Given the description of an element on the screen output the (x, y) to click on. 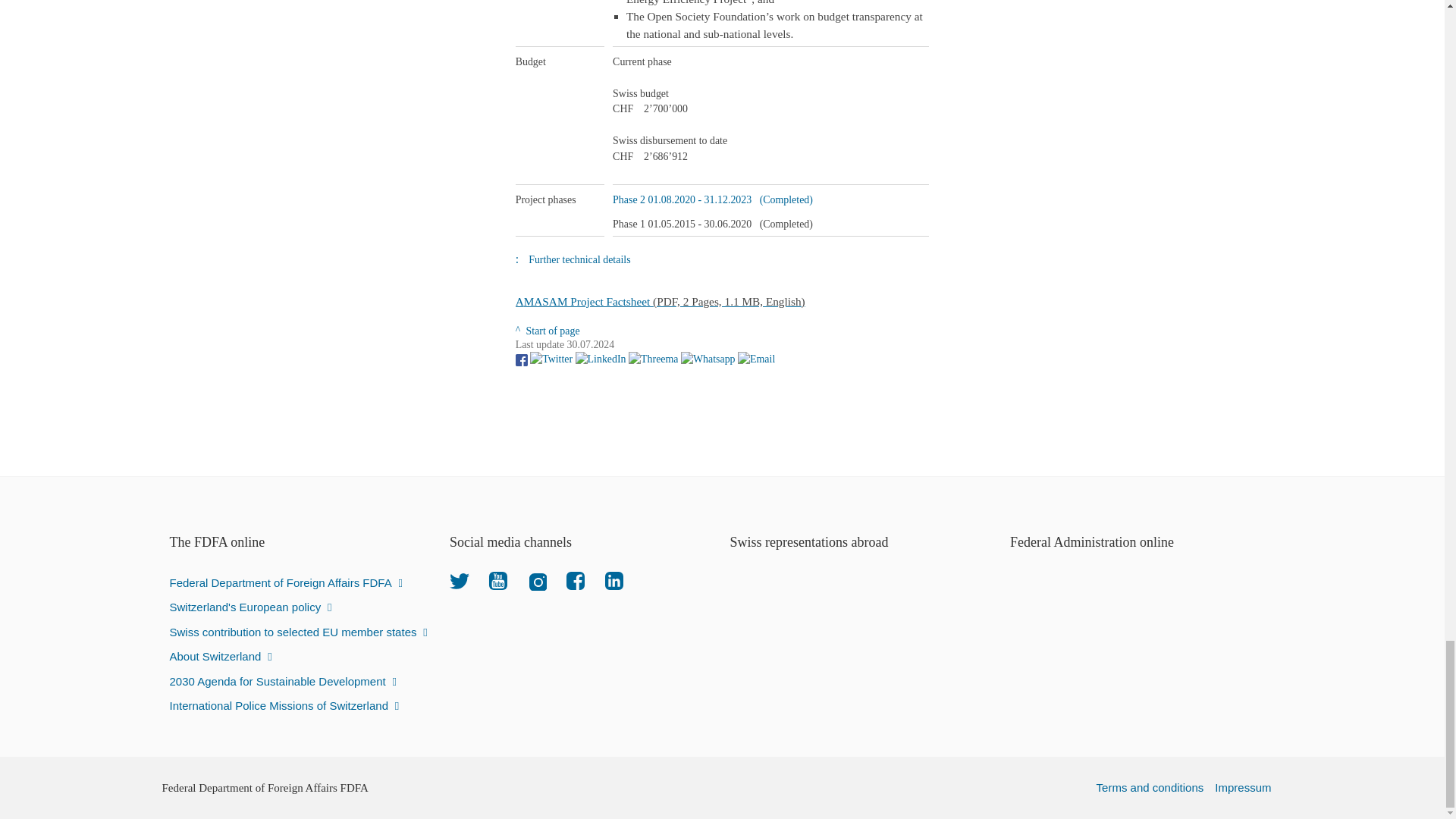
LinkedIn (614, 580)
Twitter (458, 580)
Facebook (575, 580)
Instagram (537, 580)
